Given the description of an element on the screen output the (x, y) to click on. 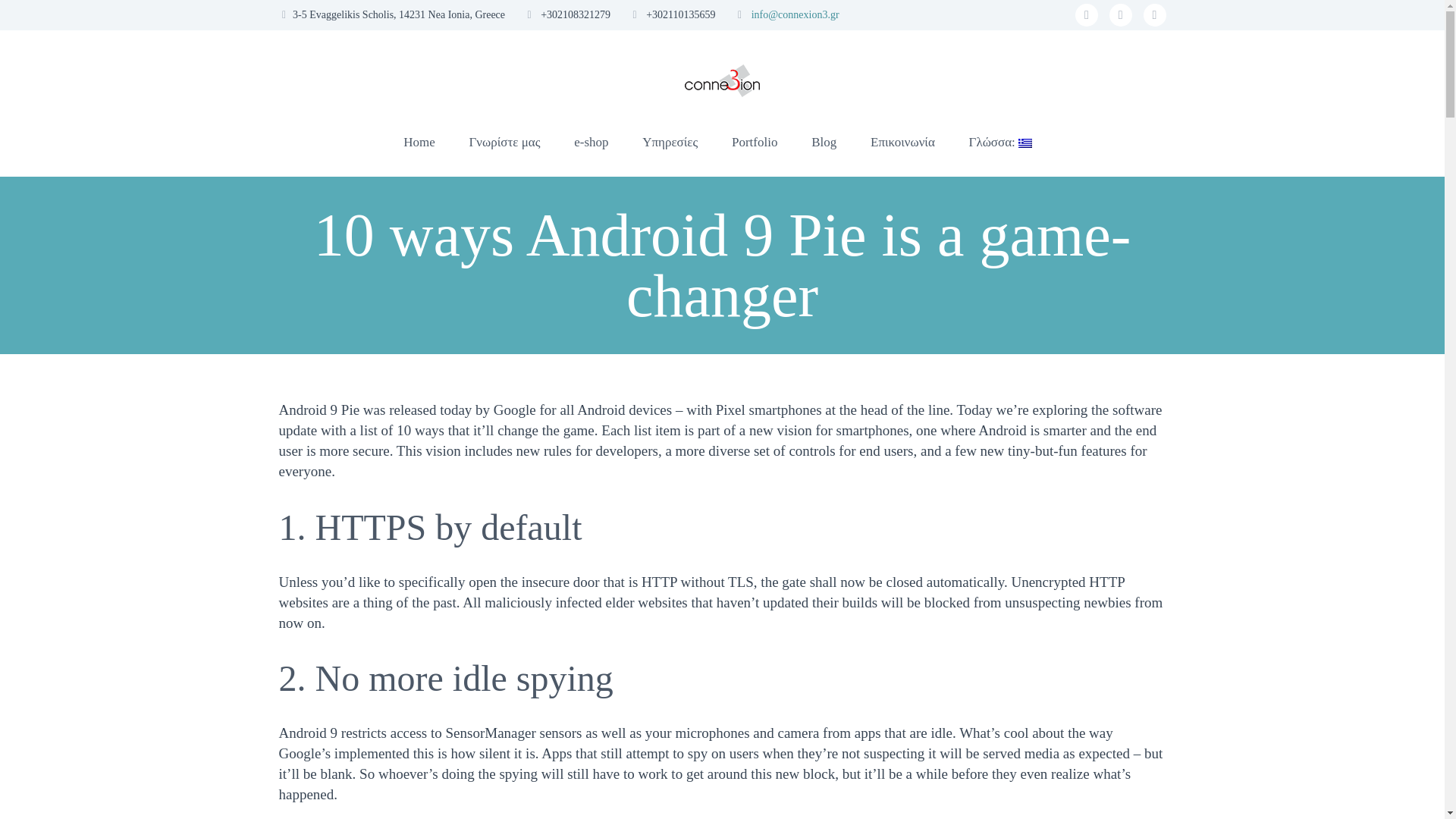
Portfolio (754, 142)
e-shop (591, 142)
rss (1154, 15)
linkedin (1120, 15)
facebook (1086, 15)
facebook (1086, 15)
rss (1154, 15)
linkedin (1120, 15)
Home (418, 142)
